Given the description of an element on the screen output the (x, y) to click on. 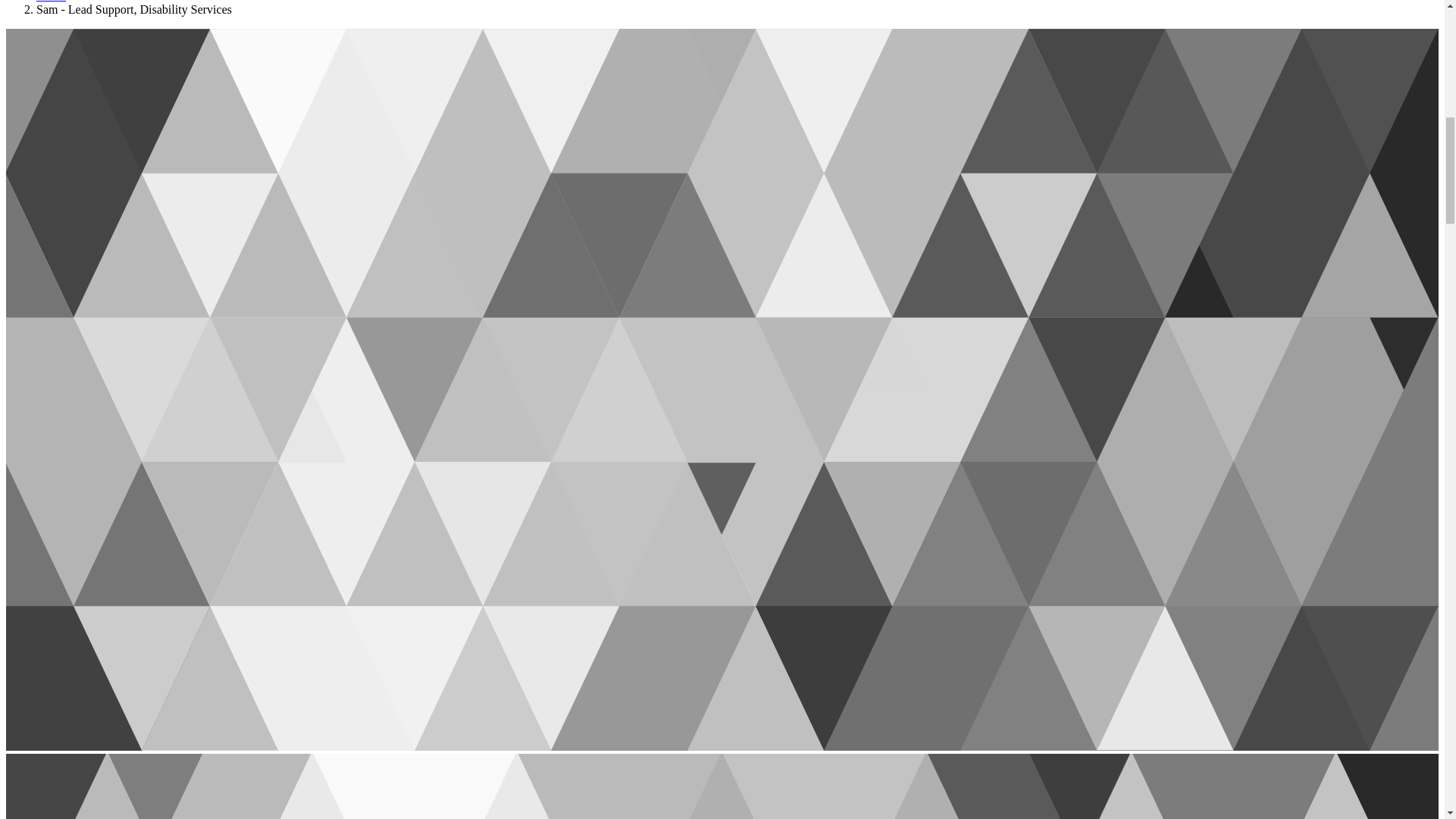
Home (50, 1)
